Given the description of an element on the screen output the (x, y) to click on. 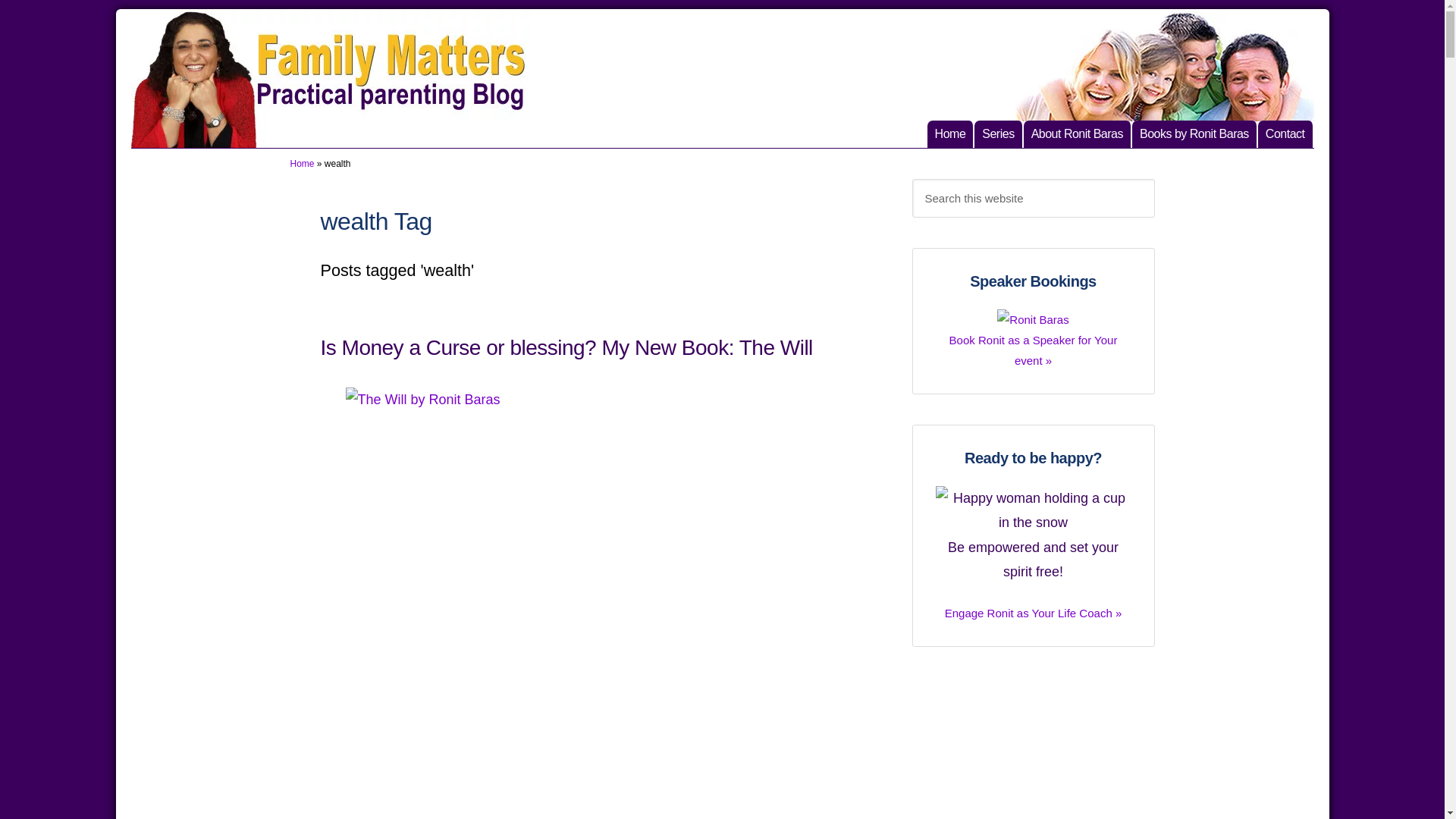
Is Money a Curse or blessing? My New Book: The Will (566, 347)
Books by Ronit Baras (1194, 134)
Home (1285, 134)
Advertisement (301, 163)
About Ronit Baras (1032, 748)
Home (1077, 134)
Skip to primary navigation (951, 134)
